Given the description of an element on the screen output the (x, y) to click on. 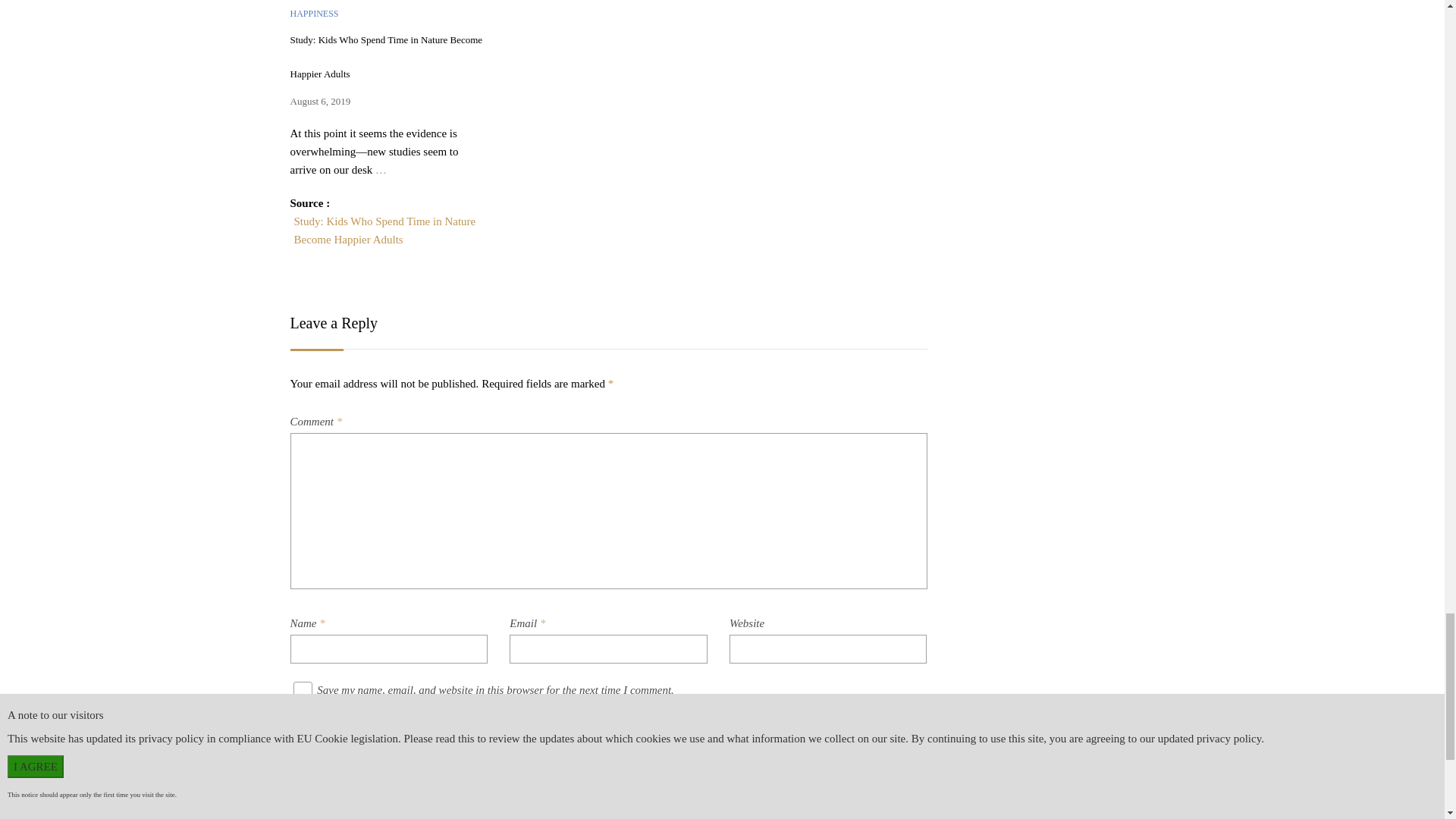
Send (899, 748)
yes (301, 691)
